Given the description of an element on the screen output the (x, y) to click on. 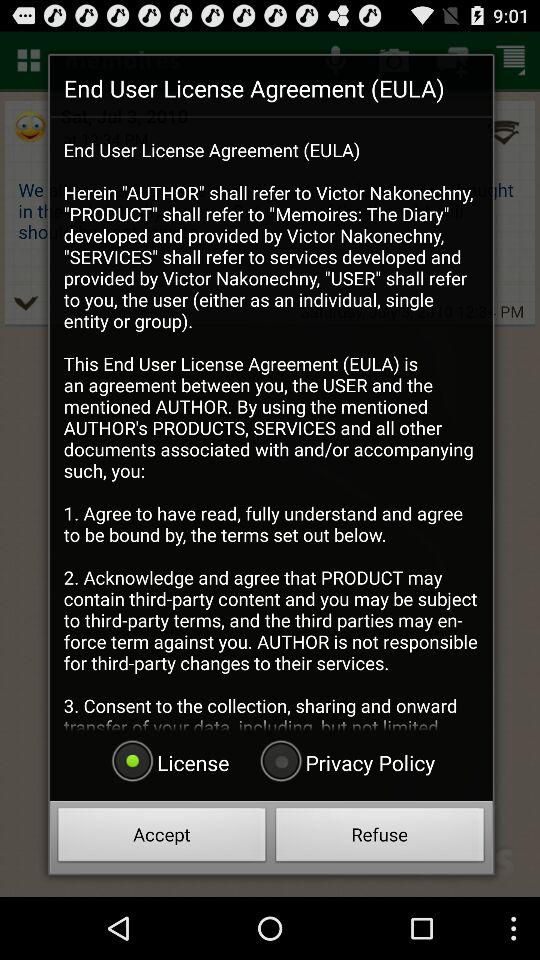
tap radio button to the right of the license item (345, 762)
